Given the description of an element on the screen output the (x, y) to click on. 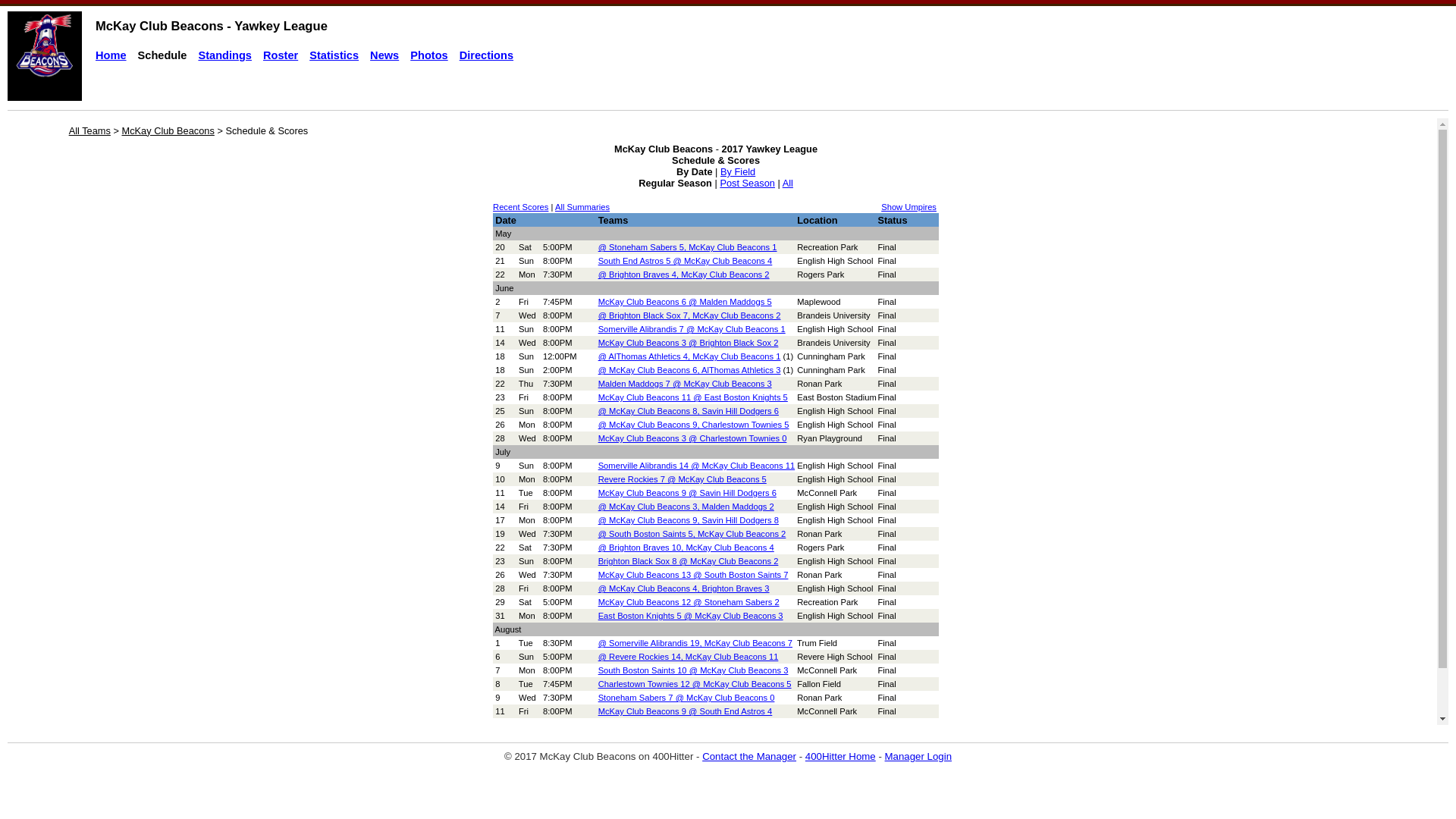
400Hitter Home Element type: text (840, 756)
Contact the Manager Element type: text (749, 756)
Statistics Element type: text (333, 55)
Roster Element type: text (280, 55)
Photos Element type: text (428, 55)
Manager Login Element type: text (918, 756)
Standings Element type: text (224, 55)
Home Element type: text (110, 55)
News Element type: text (384, 55)
Directions Element type: text (486, 55)
